Given the description of an element on the screen output the (x, y) to click on. 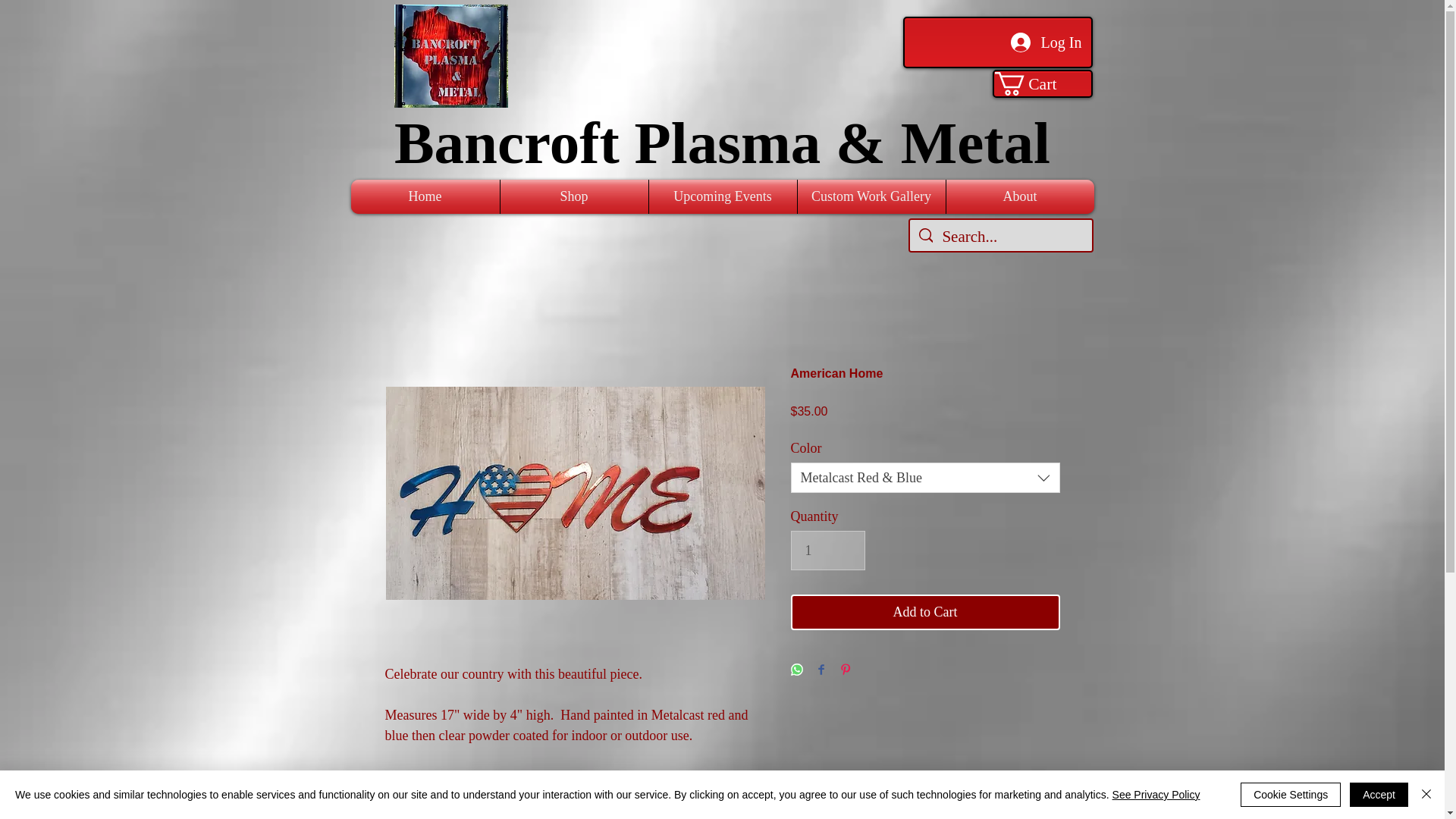
Add to Cart (924, 611)
Home (424, 196)
1 (827, 550)
Log In (1046, 42)
Upcoming Events (722, 196)
Cart (1040, 83)
Cookie Settings (1290, 794)
Shop (573, 196)
Accept (1378, 794)
About (1020, 196)
Custom Work Gallery (870, 196)
Cart (1040, 83)
See Privacy Policy (1155, 794)
